Given the description of an element on the screen output the (x, y) to click on. 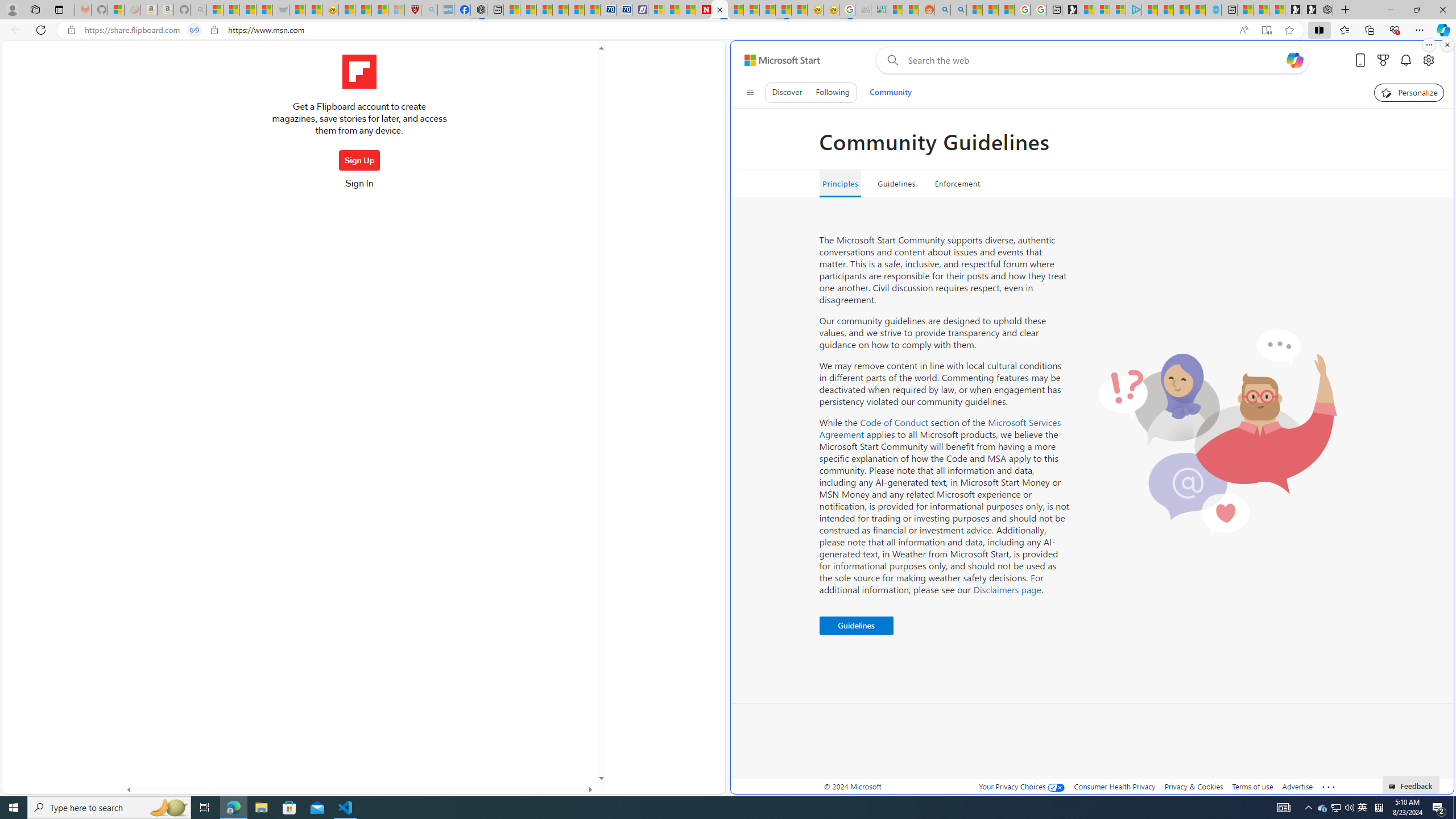
Notifications (1405, 60)
list of asthma inhalers uk - Search - Sleeping (429, 9)
Microsoft rewards (1382, 60)
Home | Sky Blue Bikes - Sky Blue Bikes (1213, 9)
More options. (1428, 45)
